Given the description of an element on the screen output the (x, y) to click on. 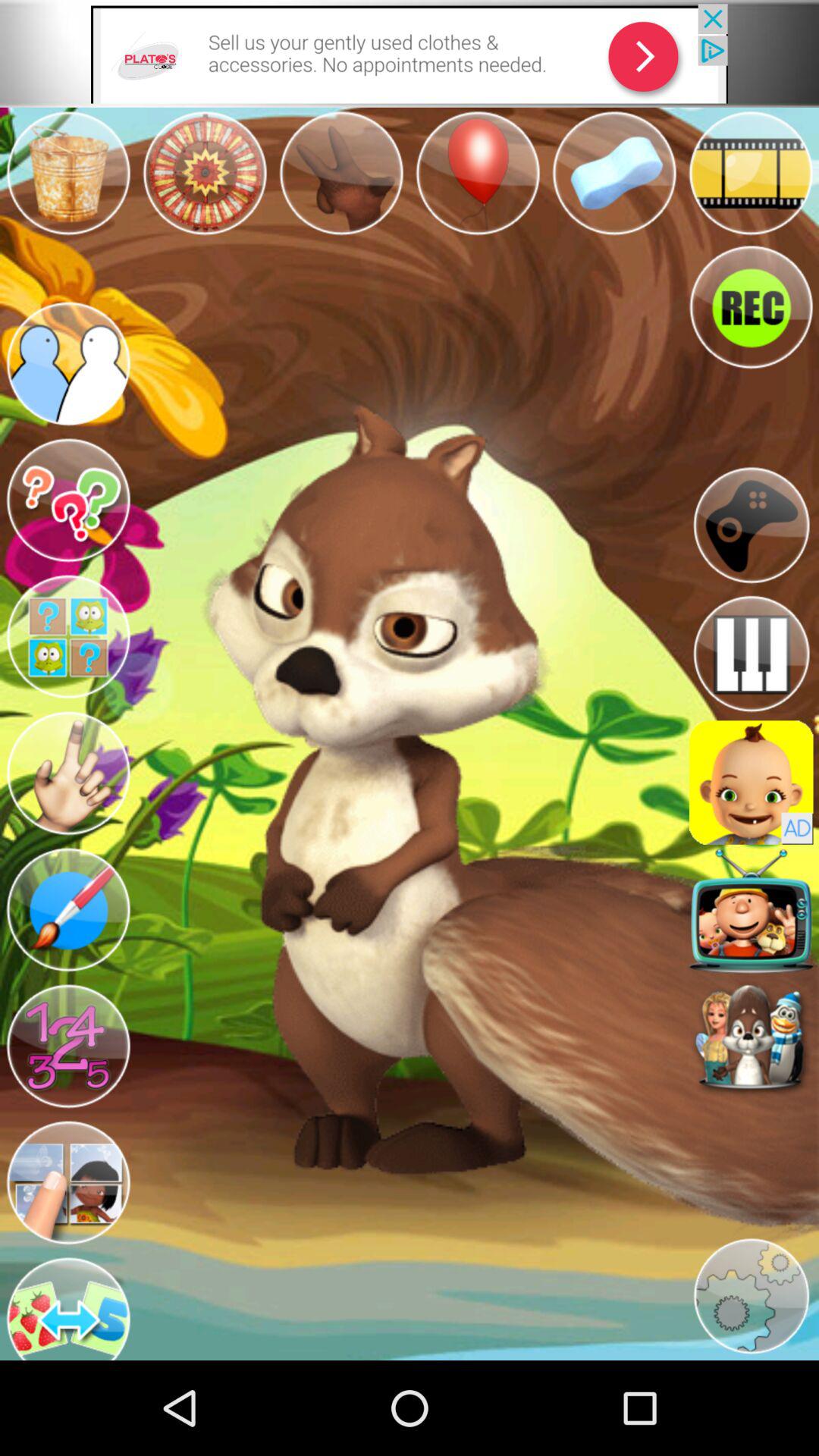
open the internet article spam (409, 53)
